Given the description of an element on the screen output the (x, y) to click on. 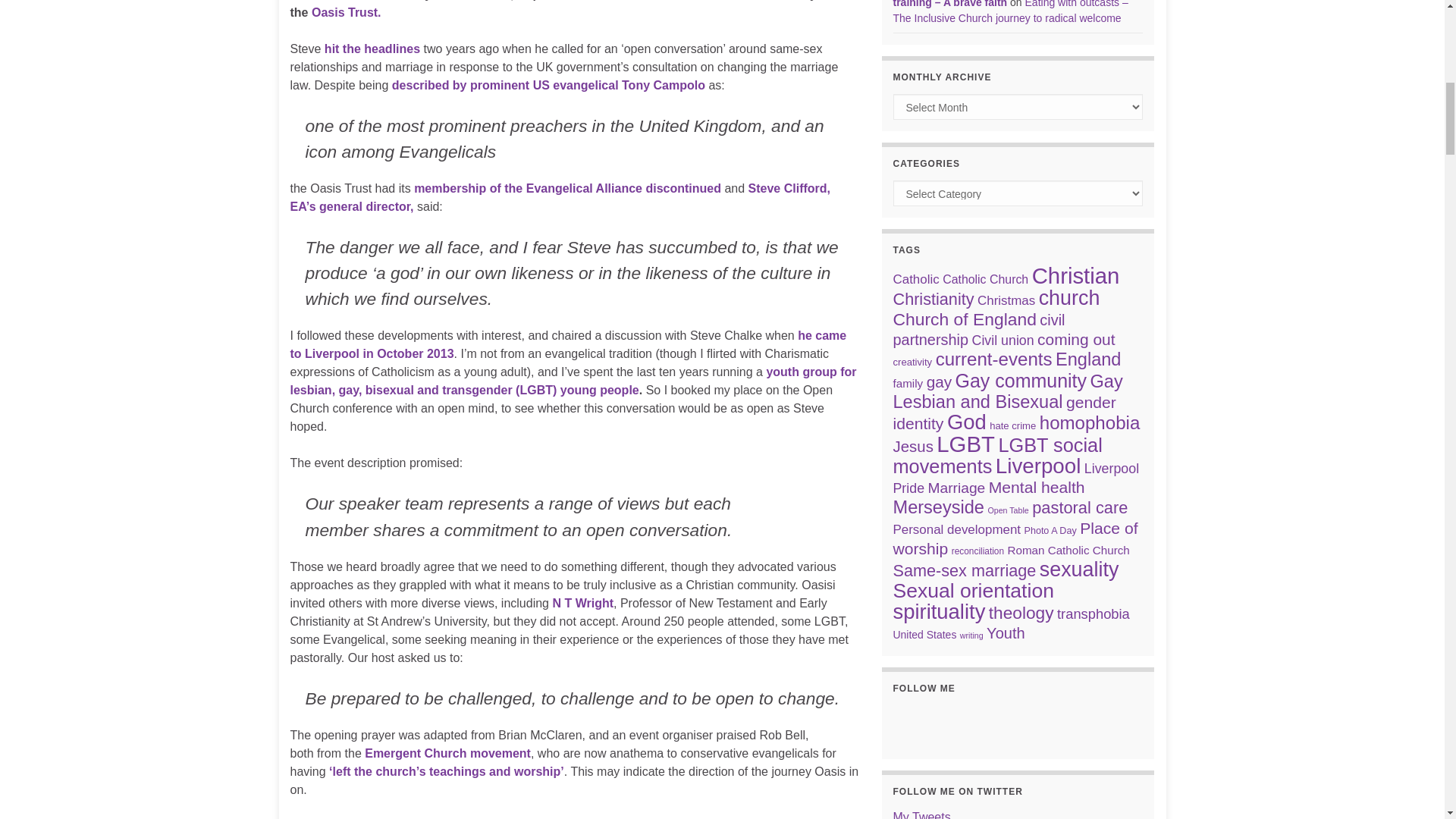
Emergent Church movement (448, 753)
membership of the Evangelical Alliance discontinued (566, 187)
Oasis Trust. (346, 11)
he came to Liverpool in October 2013 (567, 344)
N T Wright (581, 603)
hit the headlines (372, 48)
described by prominent US evangelical Tony Campolo (547, 84)
